Given the description of an element on the screen output the (x, y) to click on. 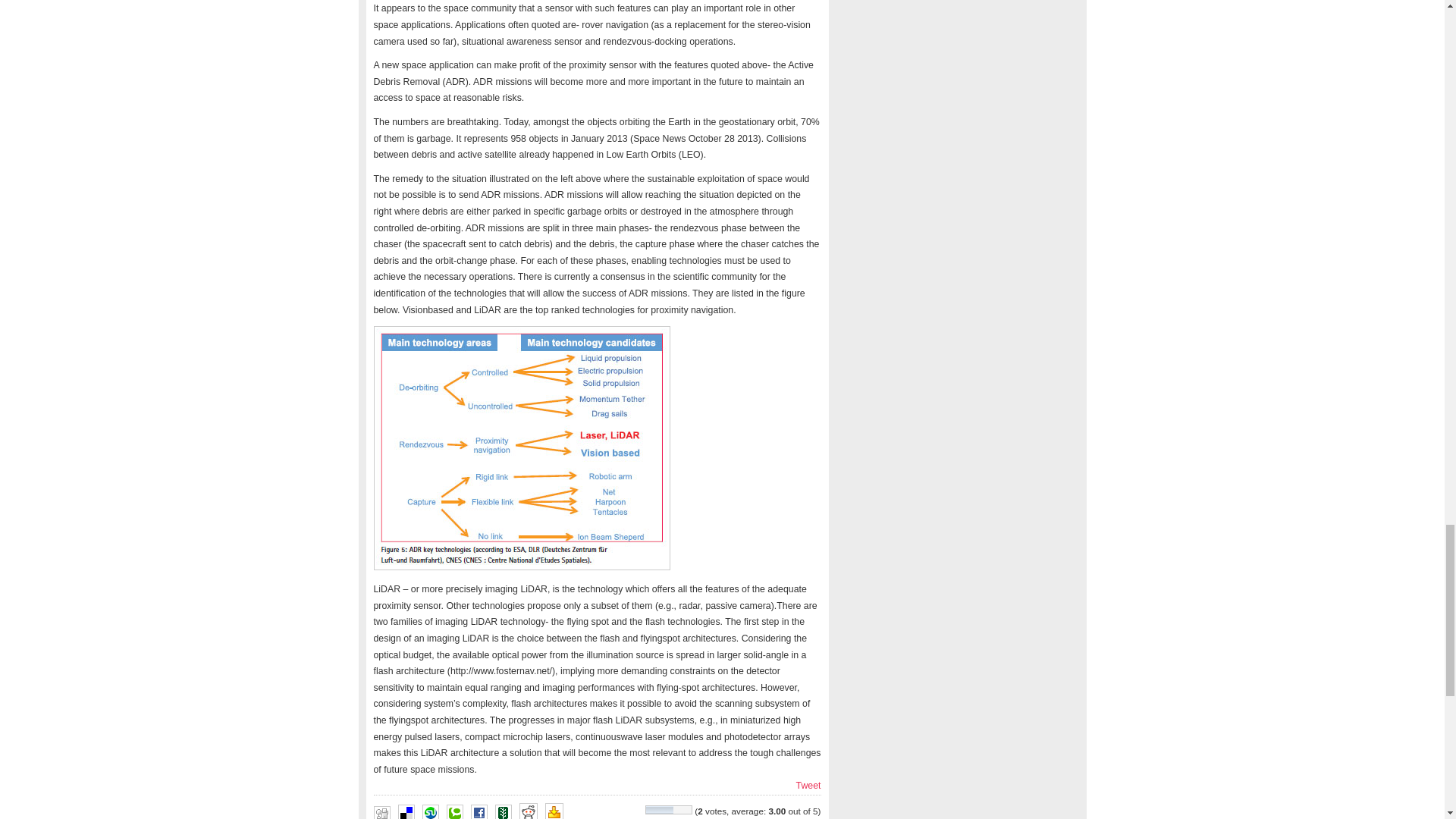
Add to del.icio.us! (405, 811)
Tweet (808, 785)
r1 (520, 447)
Stumble this! (430, 811)
Digg this! (381, 812)
